Given the description of an element on the screen output the (x, y) to click on. 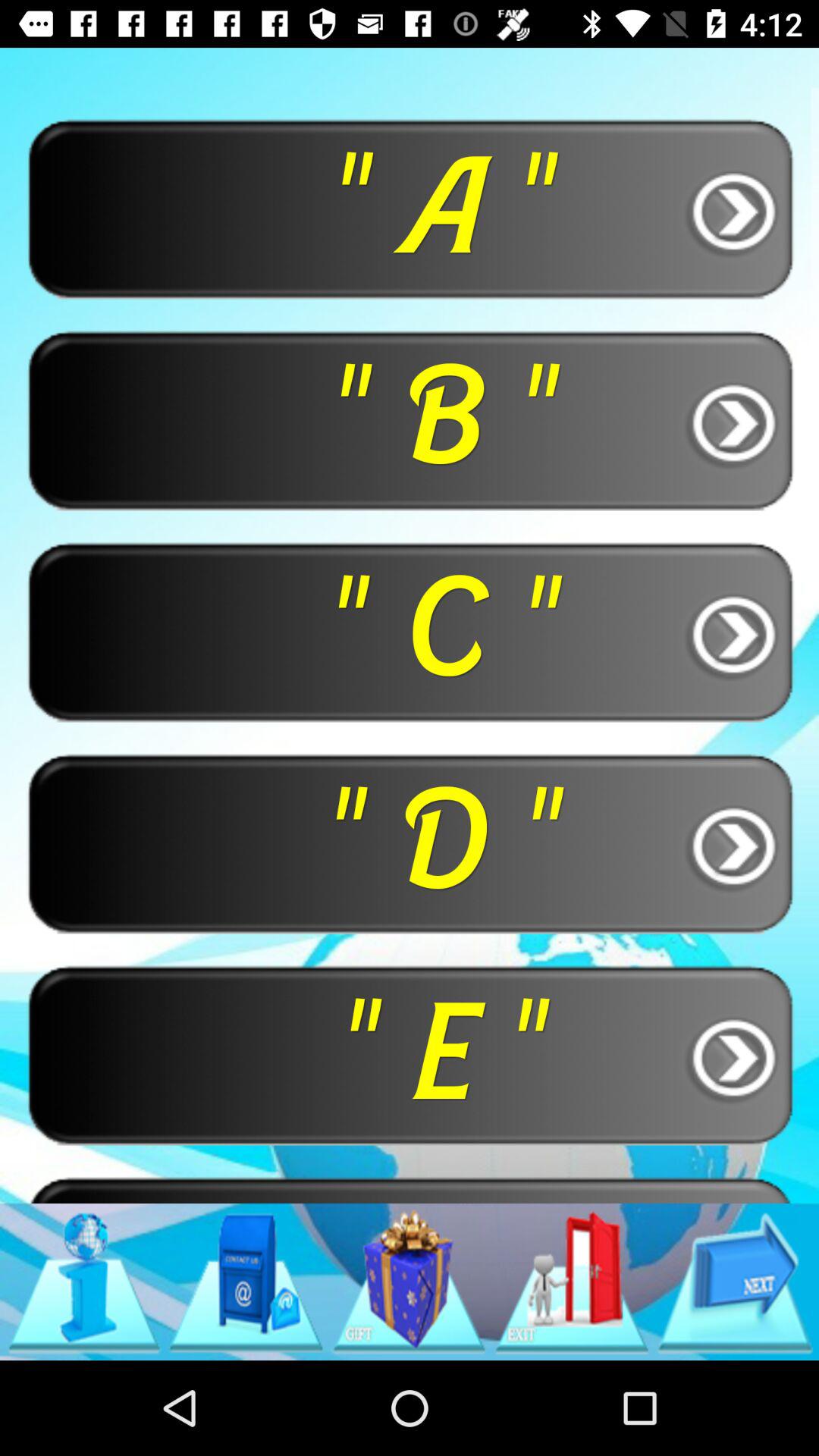
tap " b " icon (409, 419)
